Given the description of an element on the screen output the (x, y) to click on. 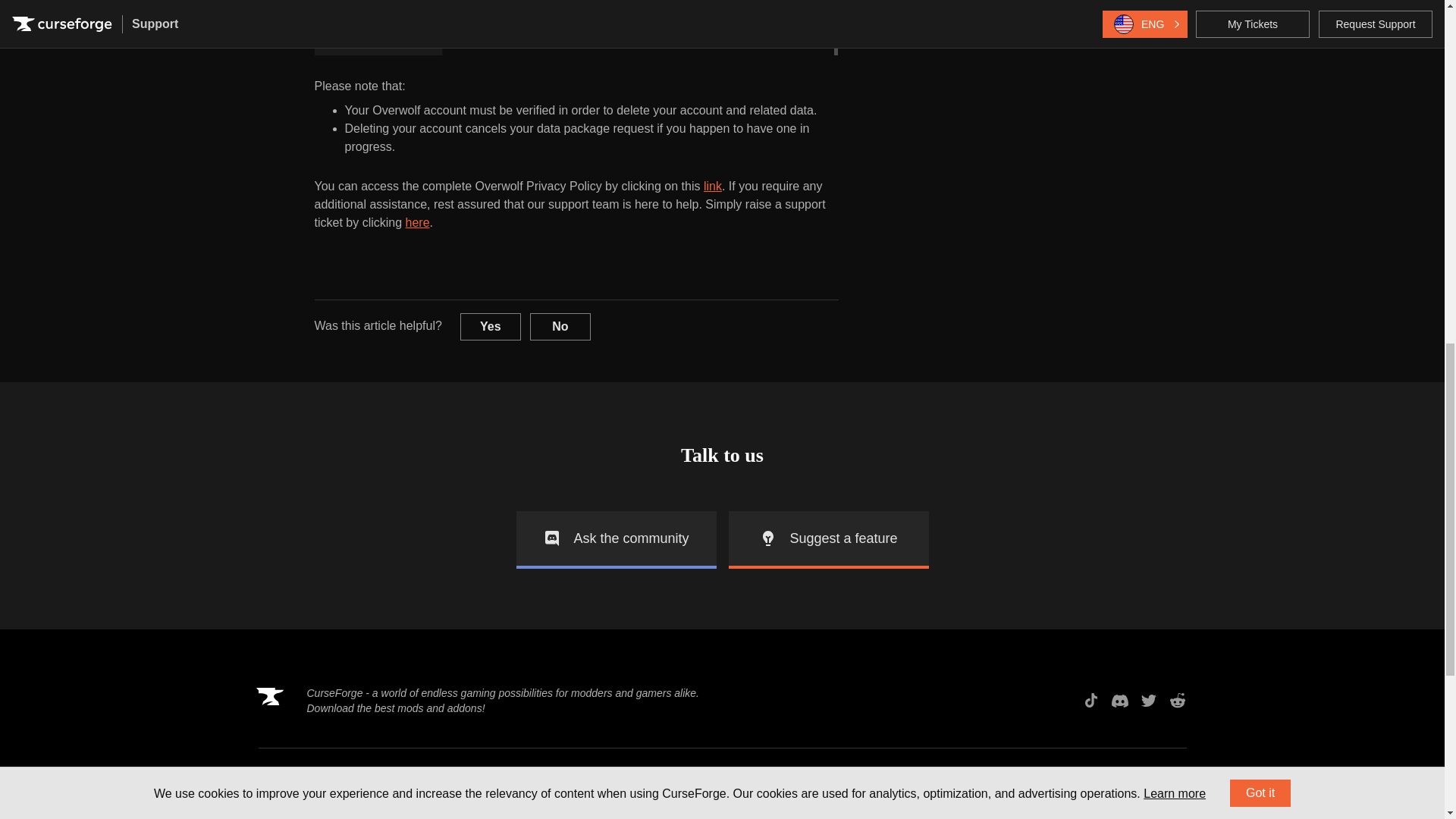
Twitter (1147, 700)
here (417, 222)
link (712, 185)
Discord (1118, 700)
Start a project (532, 812)
TikTok (1090, 700)
All games (343, 812)
Suggest a feature (828, 539)
Ask the community (615, 539)
Reddit (1176, 700)
